Given the description of an element on the screen output the (x, y) to click on. 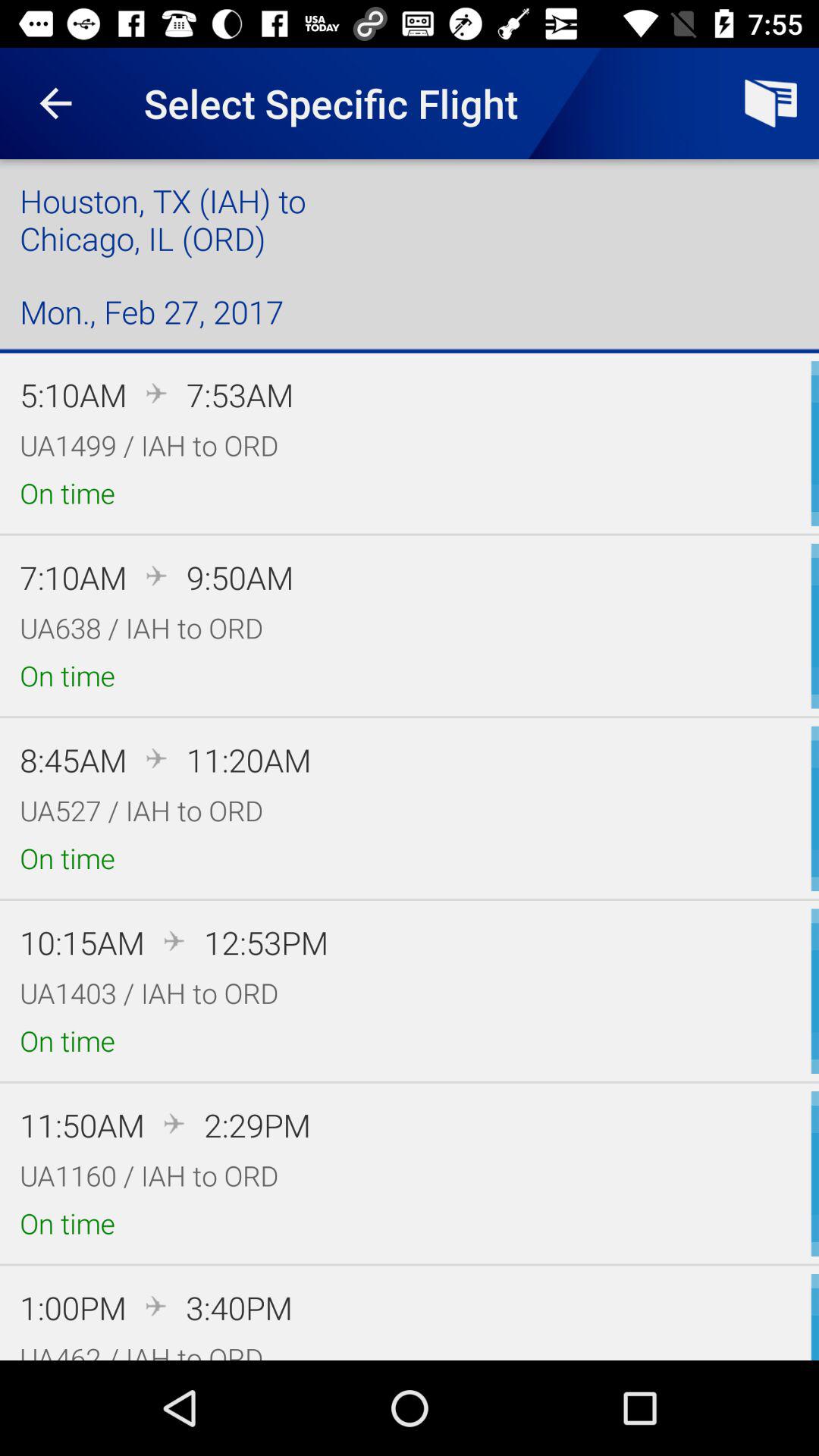
swipe until 3:40pm (238, 1307)
